Given the description of an element on the screen output the (x, y) to click on. 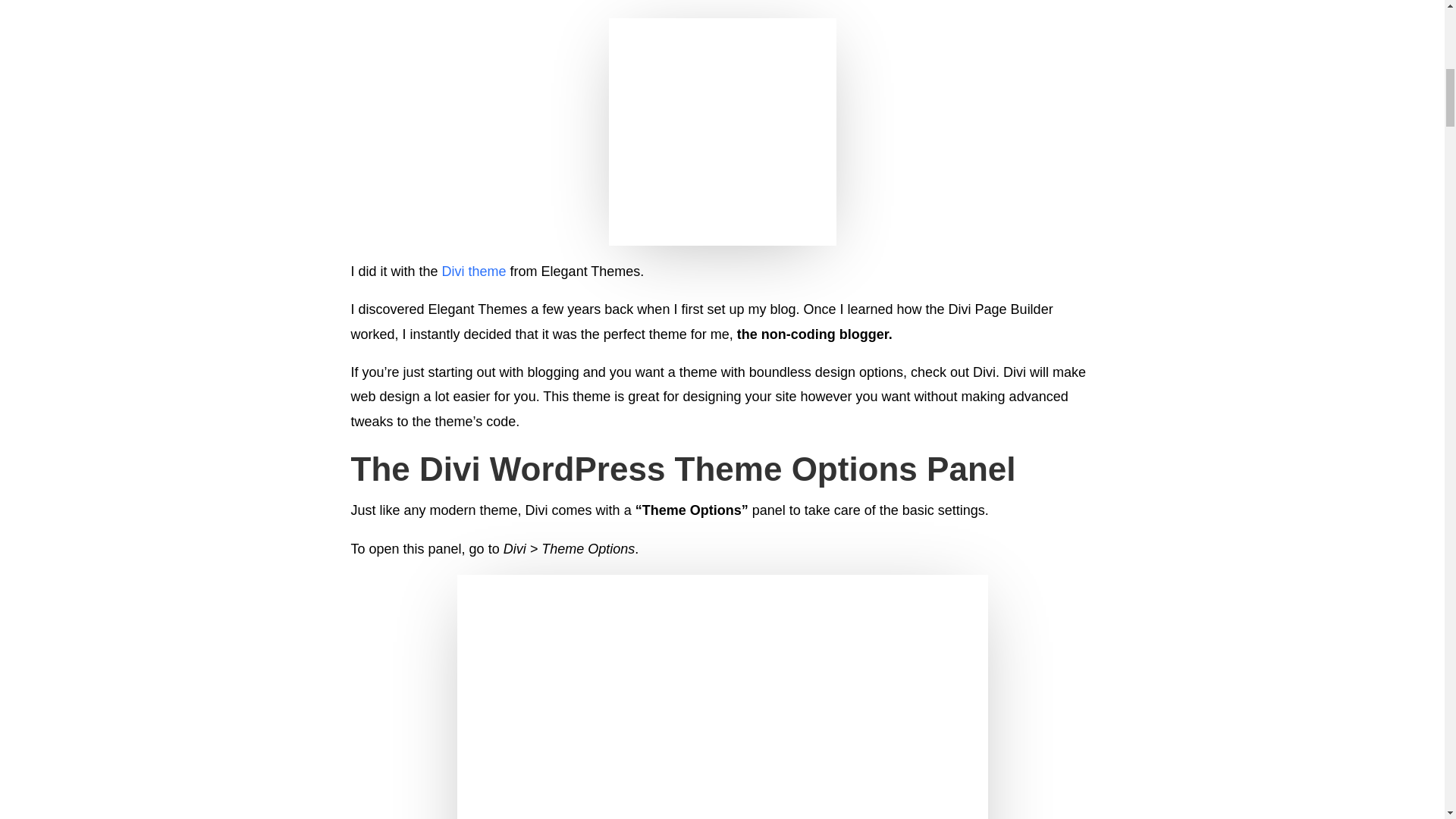
Divi theme (474, 271)
Webhosting (721, 131)
Divi Theme Options (722, 696)
